Given the description of an element on the screen output the (x, y) to click on. 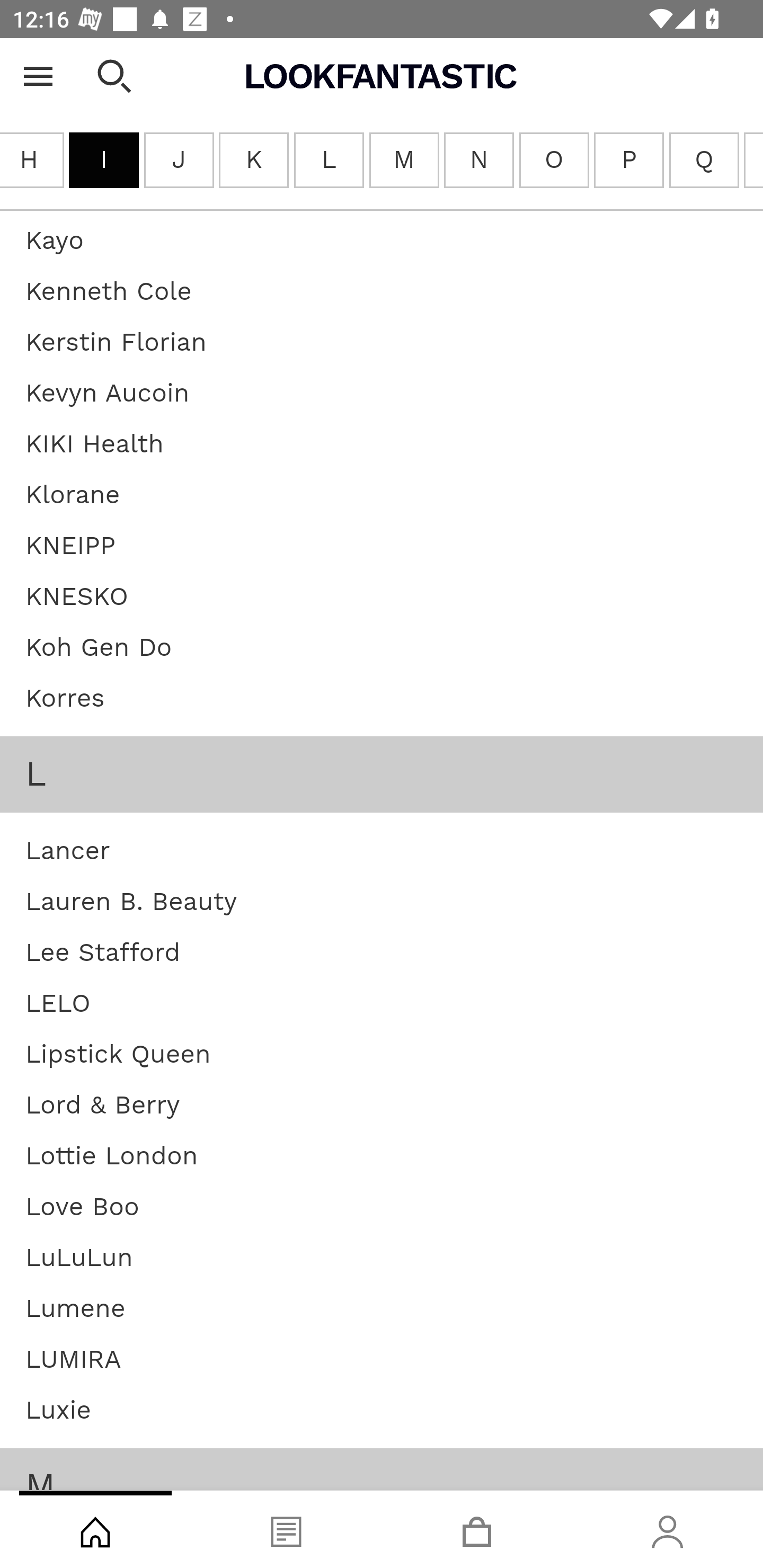
H (32, 160)
I (103, 160)
J (178, 160)
K (253, 160)
L (327, 160)
M (404, 160)
N (479, 160)
O (553, 160)
P (628, 160)
Q (703, 160)
Kayo (54, 241)
Kenneth Cole (108, 291)
Kerstin Florian (116, 343)
Kevyn Aucoin (107, 393)
KIKI Health (95, 444)
Klorane (72, 495)
KNEIPP (70, 546)
KNESKO (76, 597)
Koh Gen Do (99, 647)
Korres (65, 699)
Lancer (68, 851)
Lauren B. Beauty (131, 902)
Lee Stafford (103, 953)
LELO (57, 1003)
Lipstick Queen (118, 1054)
Lord & Berry (103, 1105)
Lottie London (111, 1156)
Love Boo (82, 1207)
LuLuLun (79, 1258)
Lumene (75, 1308)
LUMIRA (73, 1359)
Luxie (58, 1410)
Shop, tab, 1 of 4 (95, 1529)
Blog, tab, 2 of 4 (285, 1529)
Basket, tab, 3 of 4 (476, 1529)
Account, tab, 4 of 4 (667, 1529)
